Given the description of an element on the screen output the (x, y) to click on. 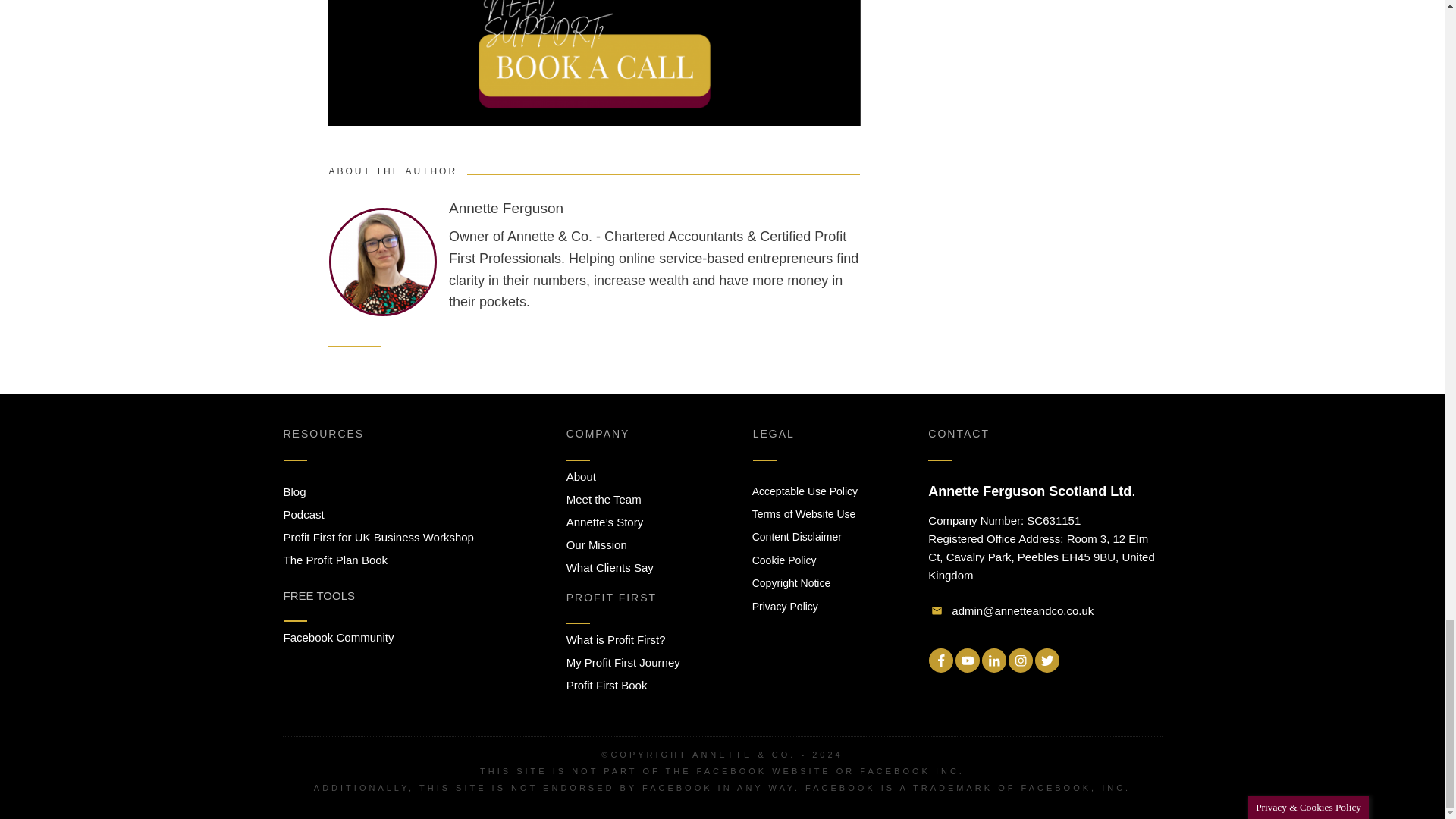
book a call button (593, 63)
